Given the description of an element on the screen output the (x, y) to click on. 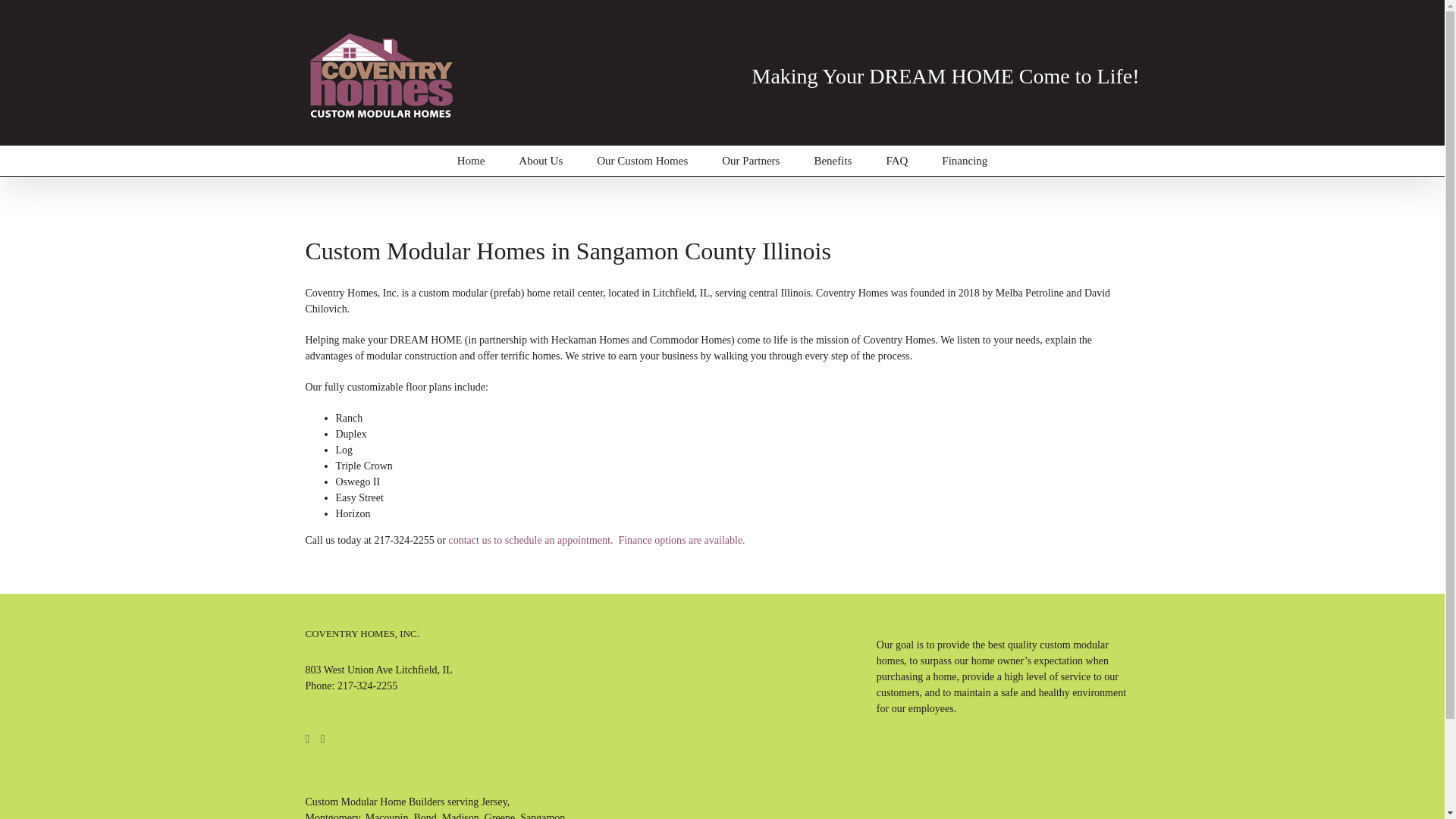
Bond (424, 815)
Financing (964, 160)
Madison (460, 815)
About Us (540, 160)
Our Partners (750, 160)
Our Custom Homes (641, 160)
Benefits (832, 160)
Finance options are available.  (682, 540)
contact us to schedule an appointment. (530, 540)
Home (470, 160)
FAQ (896, 160)
Macoupin (387, 815)
Montgomery (331, 815)
Jersey (493, 801)
217-324-2255 (367, 685)
